Given the description of an element on the screen output the (x, y) to click on. 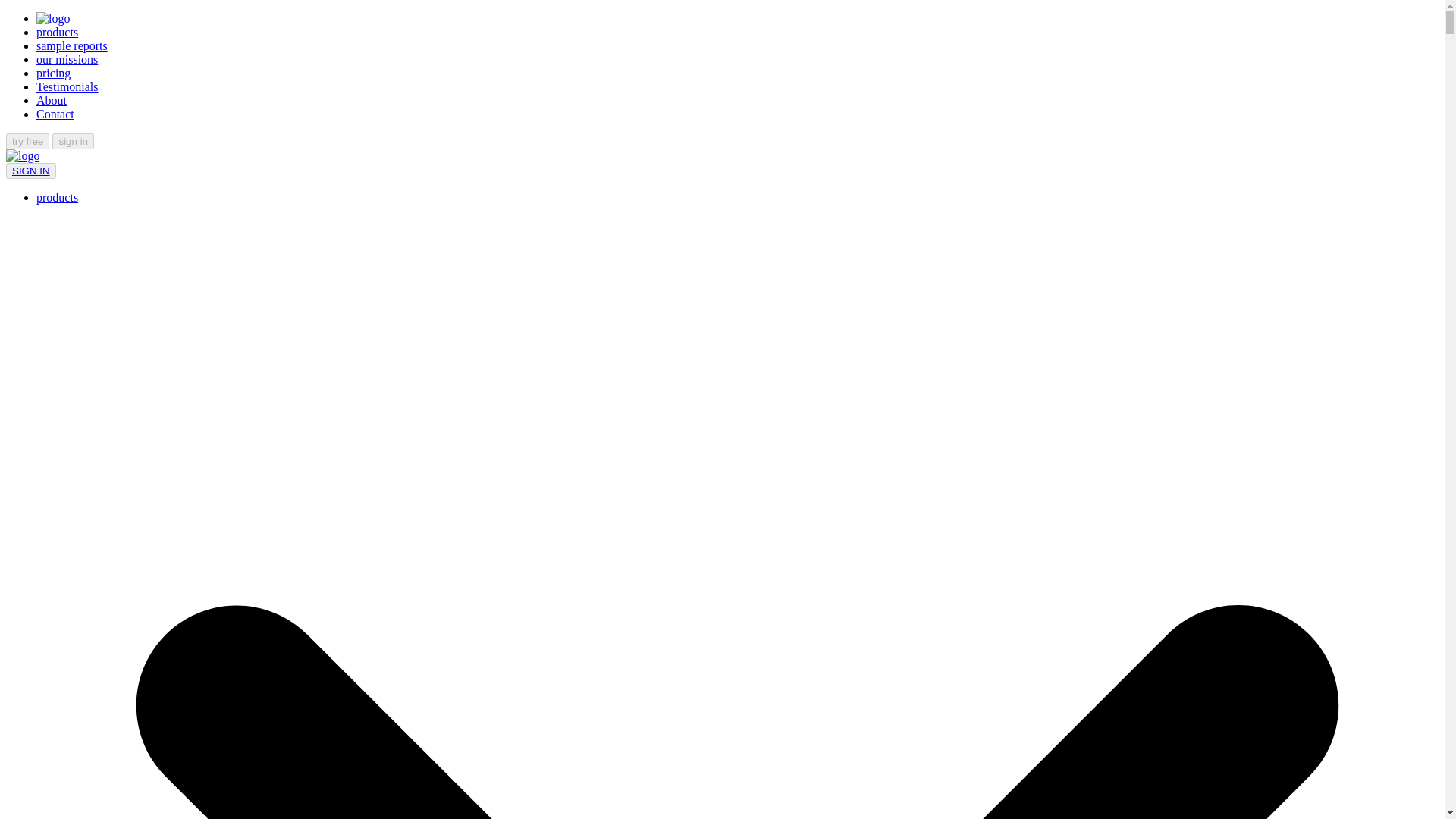
sample reports (71, 45)
our missions (66, 59)
Testimonials (67, 86)
products (57, 31)
pricing (52, 72)
About (51, 100)
